Given the description of an element on the screen output the (x, y) to click on. 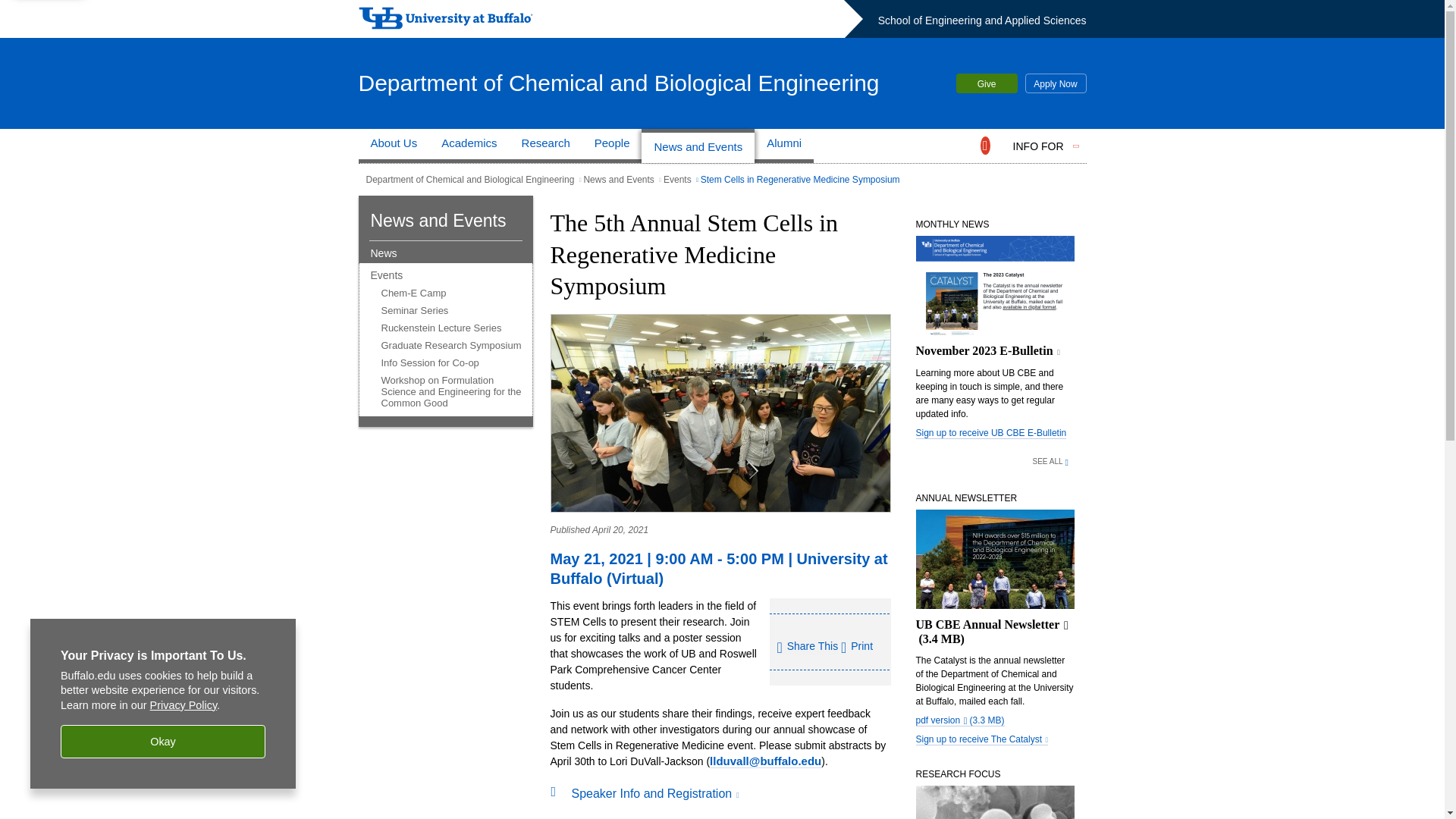
This link will download a file. (994, 578)
School of Engineering and Applied Sciences (981, 19)
This link opens a page in a new window or tab. (1053, 460)
Academics (468, 145)
Apply Now (1055, 83)
This link opens a page in a new window or tab. (994, 297)
Department of Chemical and Biological Engineering (618, 82)
About Us (393, 145)
This link opens a page in a new window or tab. (981, 739)
This link opens a page in a new window or tab. (655, 793)
This link will download a file. (959, 720)
Give (985, 83)
